Given the description of an element on the screen output the (x, y) to click on. 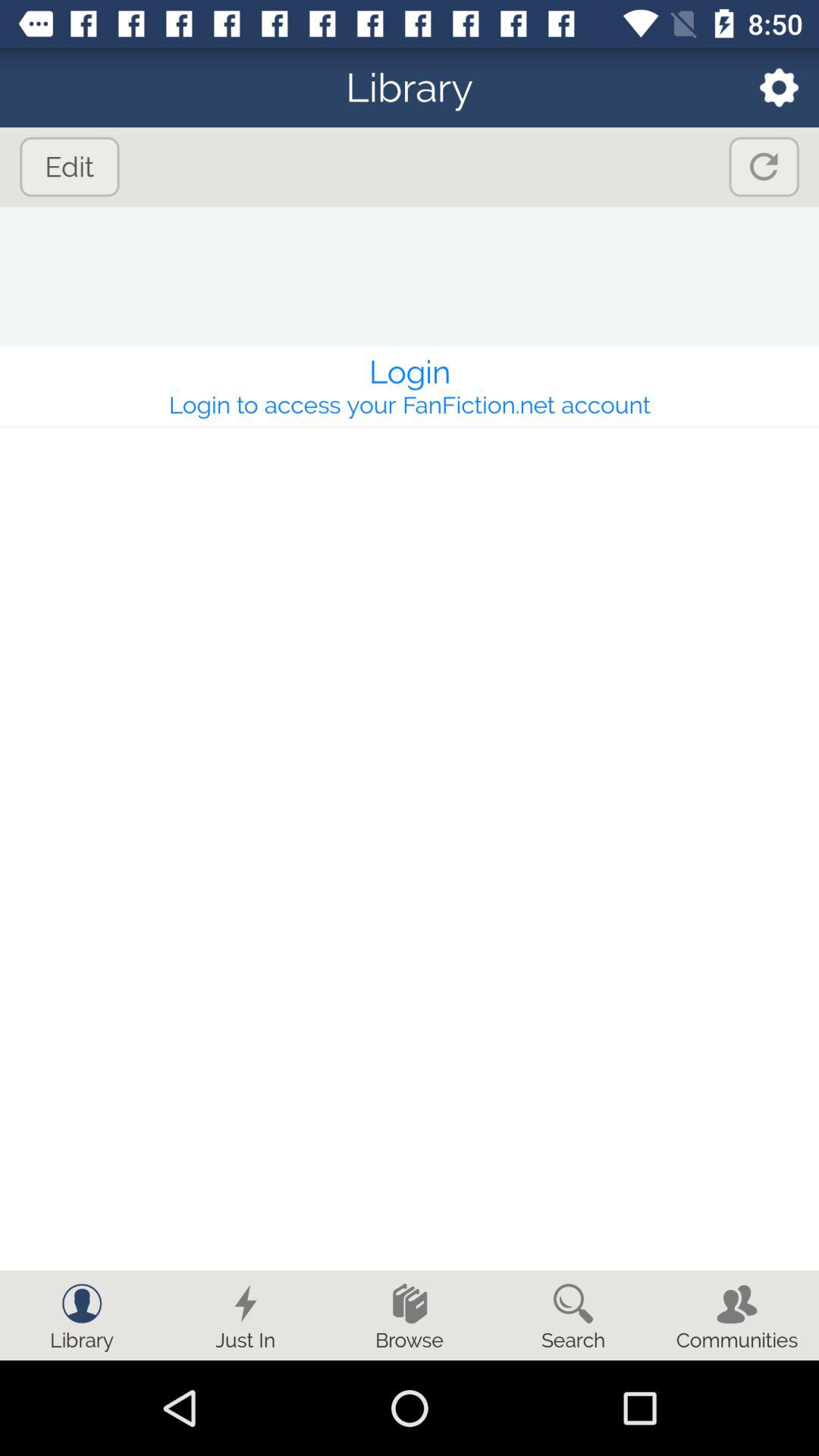
choose the item below the login icon (409, 404)
